Given the description of an element on the screen output the (x, y) to click on. 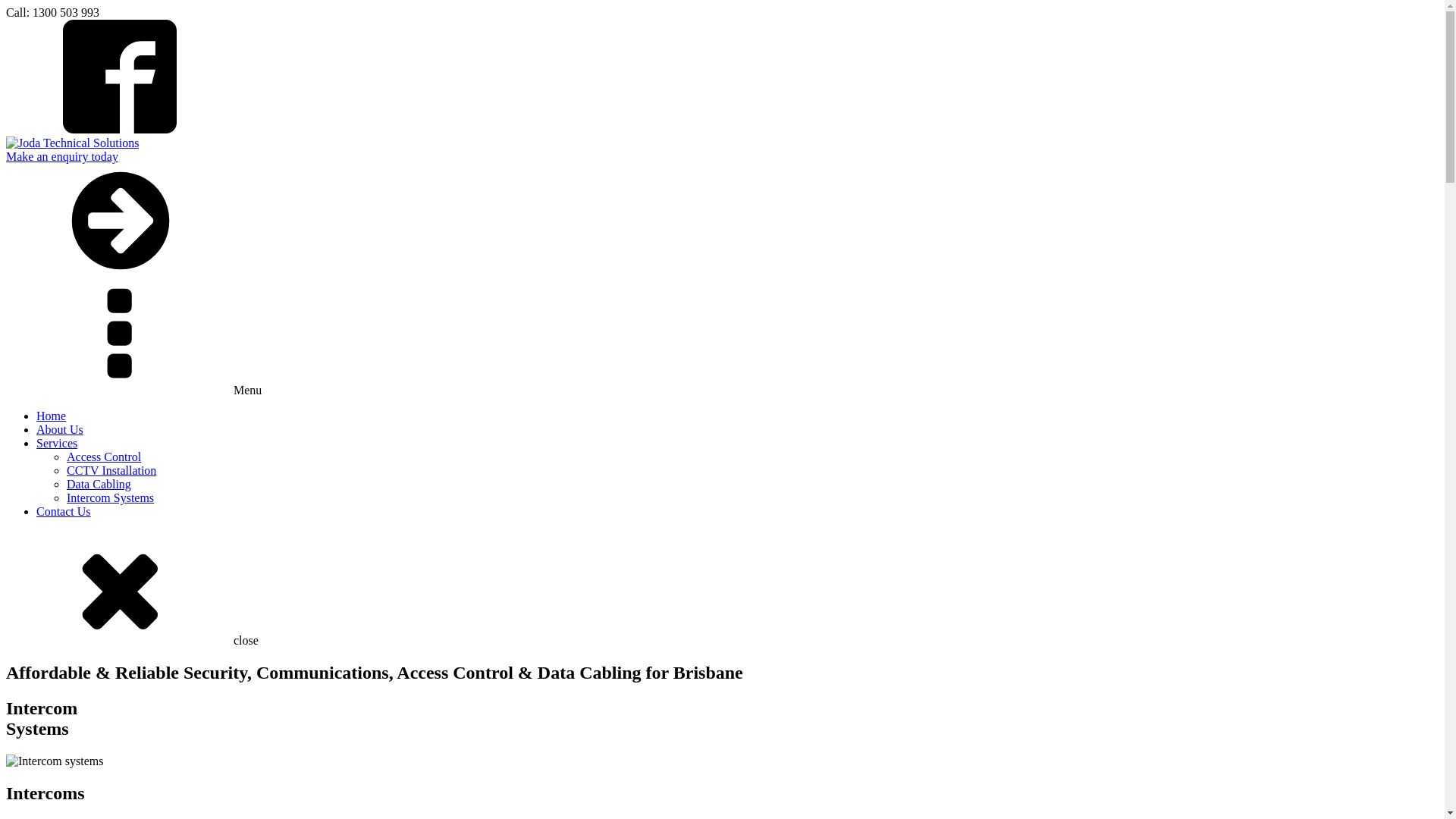
Services Element type: text (56, 442)
Make an enquiry today Element type: text (62, 156)
Home Element type: text (50, 415)
Access Control Element type: text (103, 456)
Visit our Facebook Element type: text (119, 128)
About Us Element type: text (59, 429)
Contact Us Element type: text (63, 511)
Data Cabling Element type: text (98, 483)
CCTV Installation Element type: text (111, 470)
Intercom Systems Element type: text (109, 497)
